Given the description of an element on the screen output the (x, y) to click on. 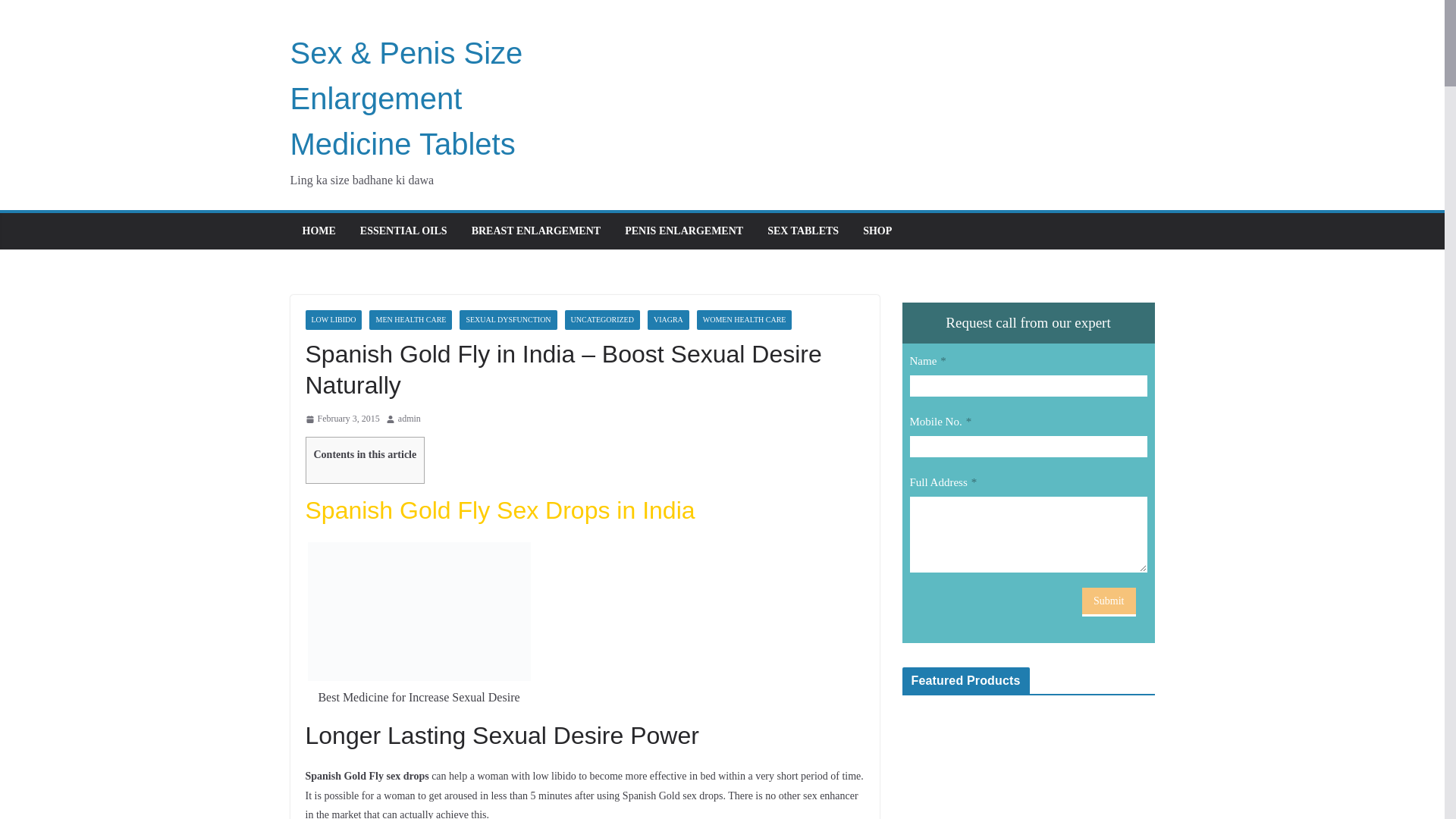
WOMEN HEALTH CARE (744, 320)
SEXUAL DYSFUNCTION (508, 320)
VIAGRA (667, 320)
admin (408, 419)
UNCATEGORIZED (602, 320)
February 3, 2015 (341, 419)
MEN HEALTH CARE (410, 320)
admin (408, 419)
SHOP (877, 230)
HOME (317, 230)
BREAST ENLARGEMENT (536, 230)
LOW LIBIDO (332, 320)
Submit (1108, 602)
ESSENTIAL OILS (402, 230)
Long time sex medicine (1027, 762)
